Given the description of an element on the screen output the (x, y) to click on. 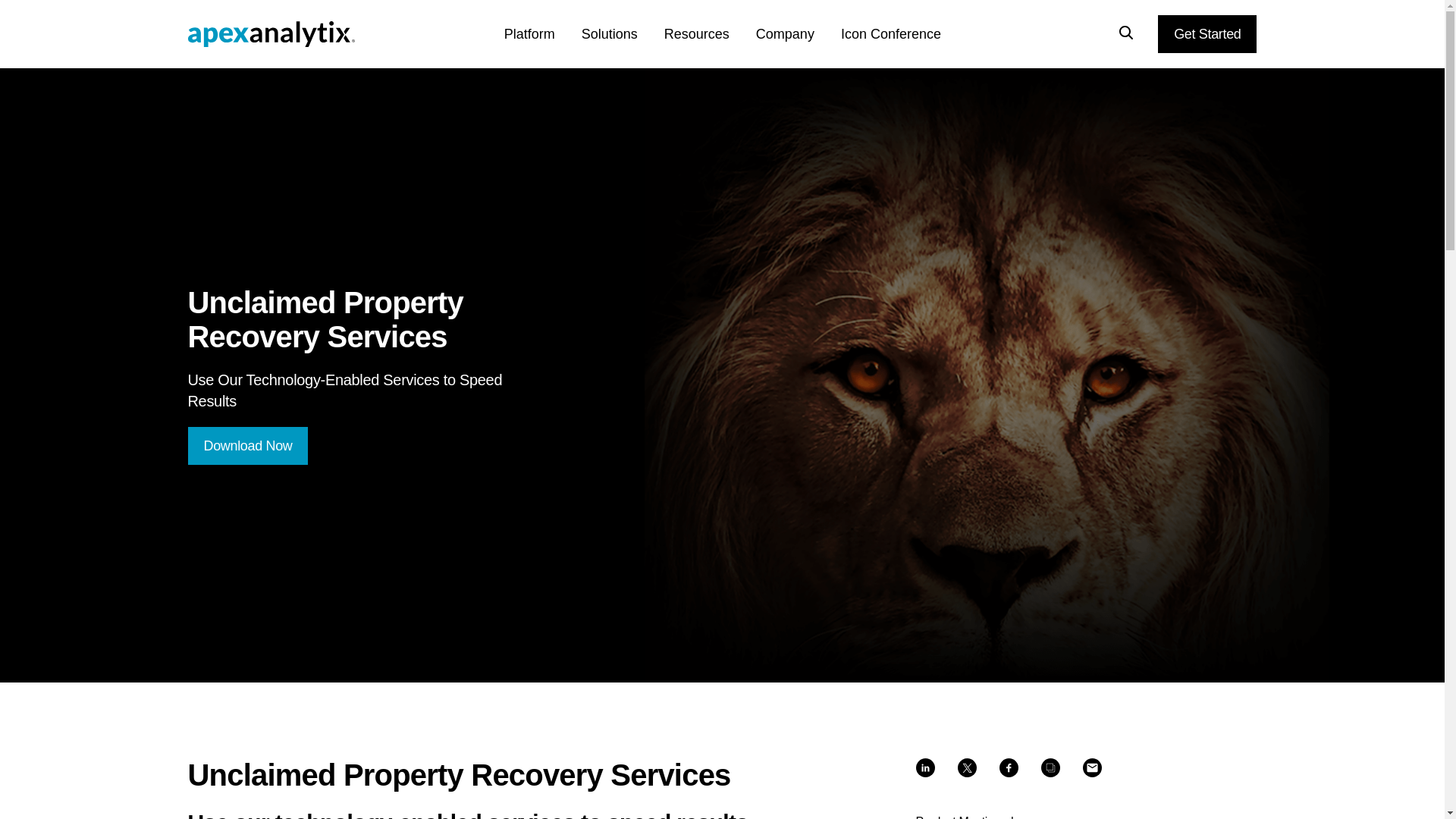
Resources (709, 45)
Platform (541, 45)
Solutions (621, 45)
